Given the description of an element on the screen output the (x, y) to click on. 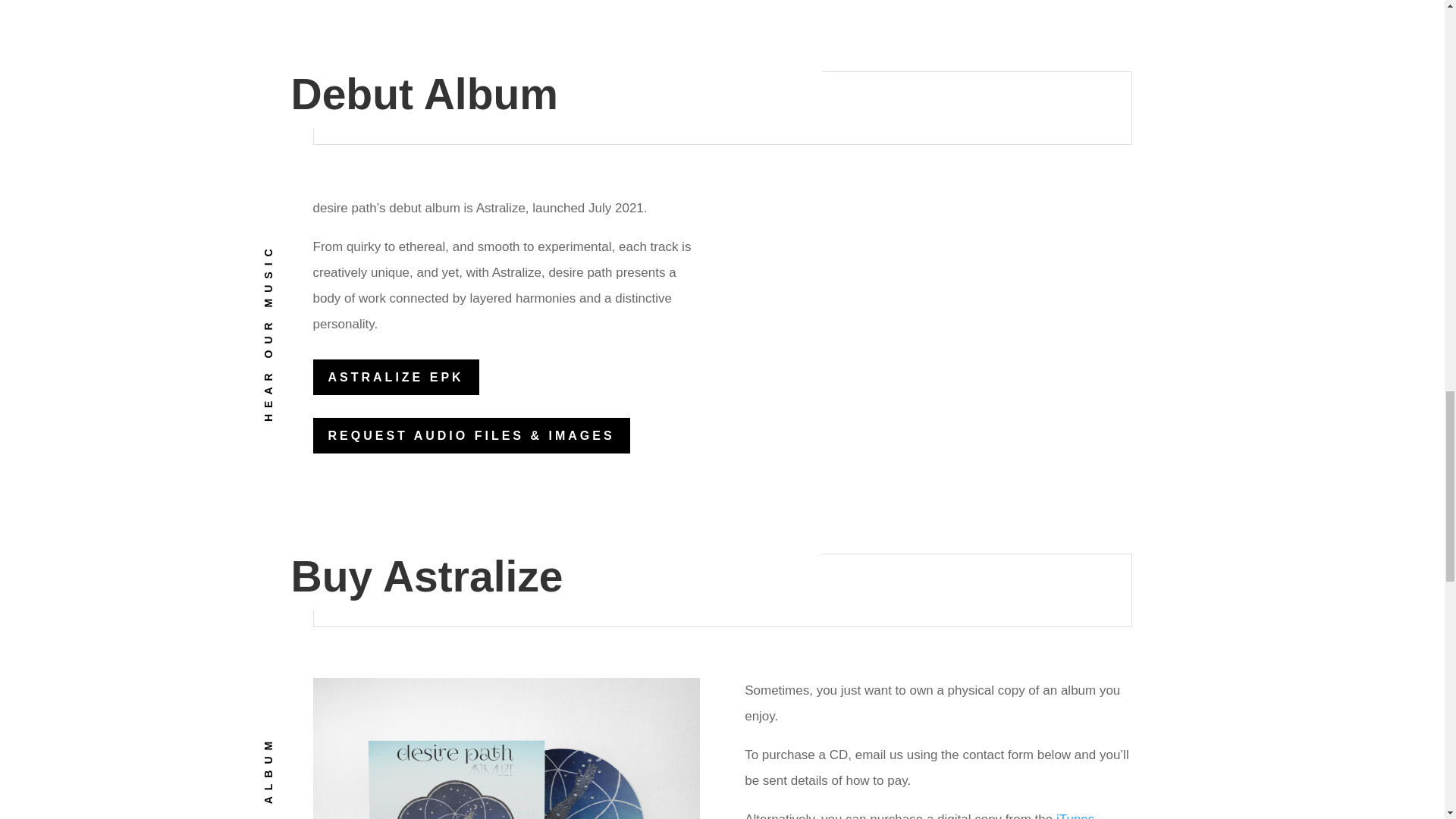
ASTRALIZE EPK (396, 376)
iTunes Store. (919, 815)
Desire Path Music - Astralize (505, 748)
